Given the description of an element on the screen output the (x, y) to click on. 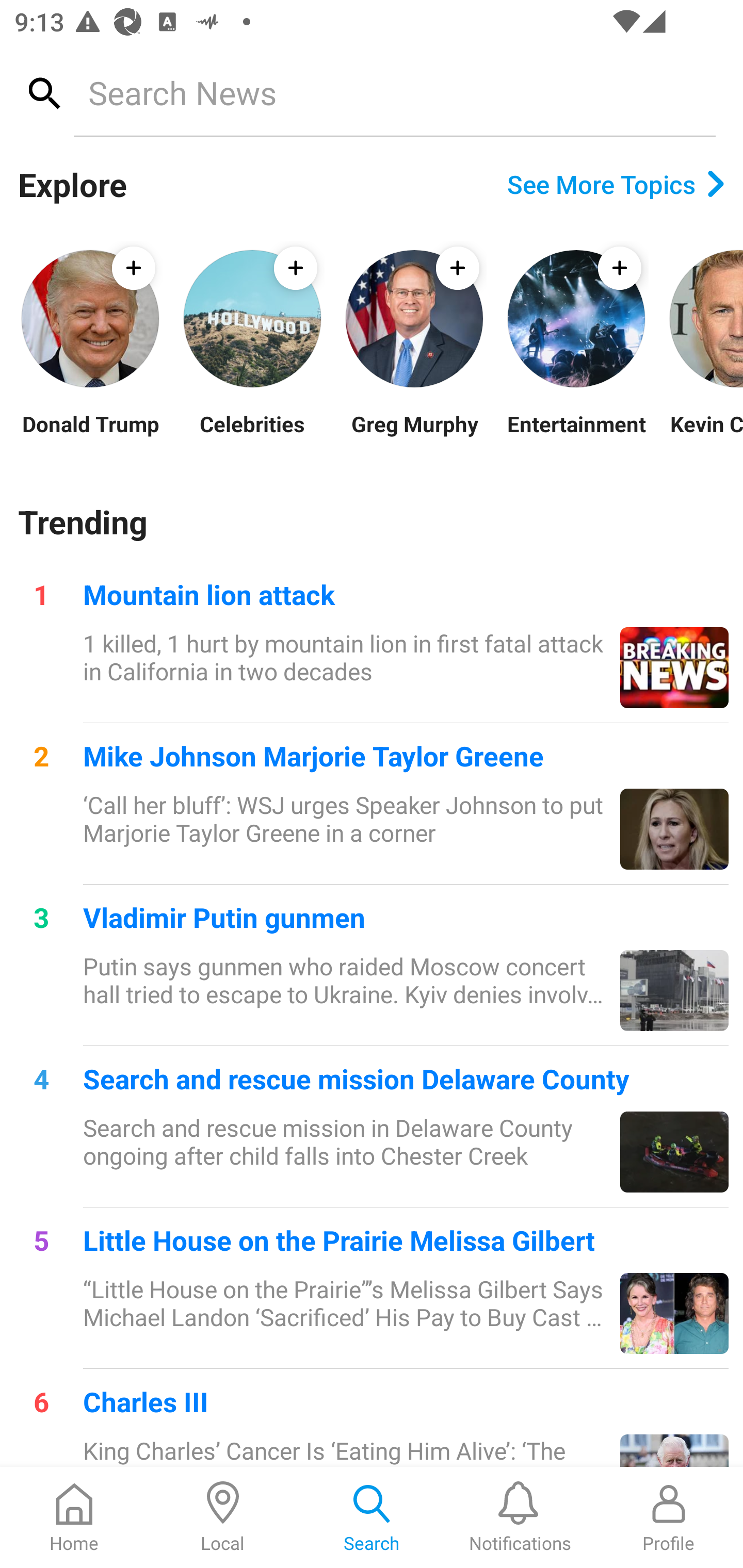
Search News (394, 92)
See More Topics (616, 183)
Donald Trump (89, 436)
Celebrities (251, 436)
Greg Murphy (413, 436)
Entertainment (575, 436)
Home (74, 1517)
Local (222, 1517)
Notifications (519, 1517)
Profile (668, 1517)
